Given the description of an element on the screen output the (x, y) to click on. 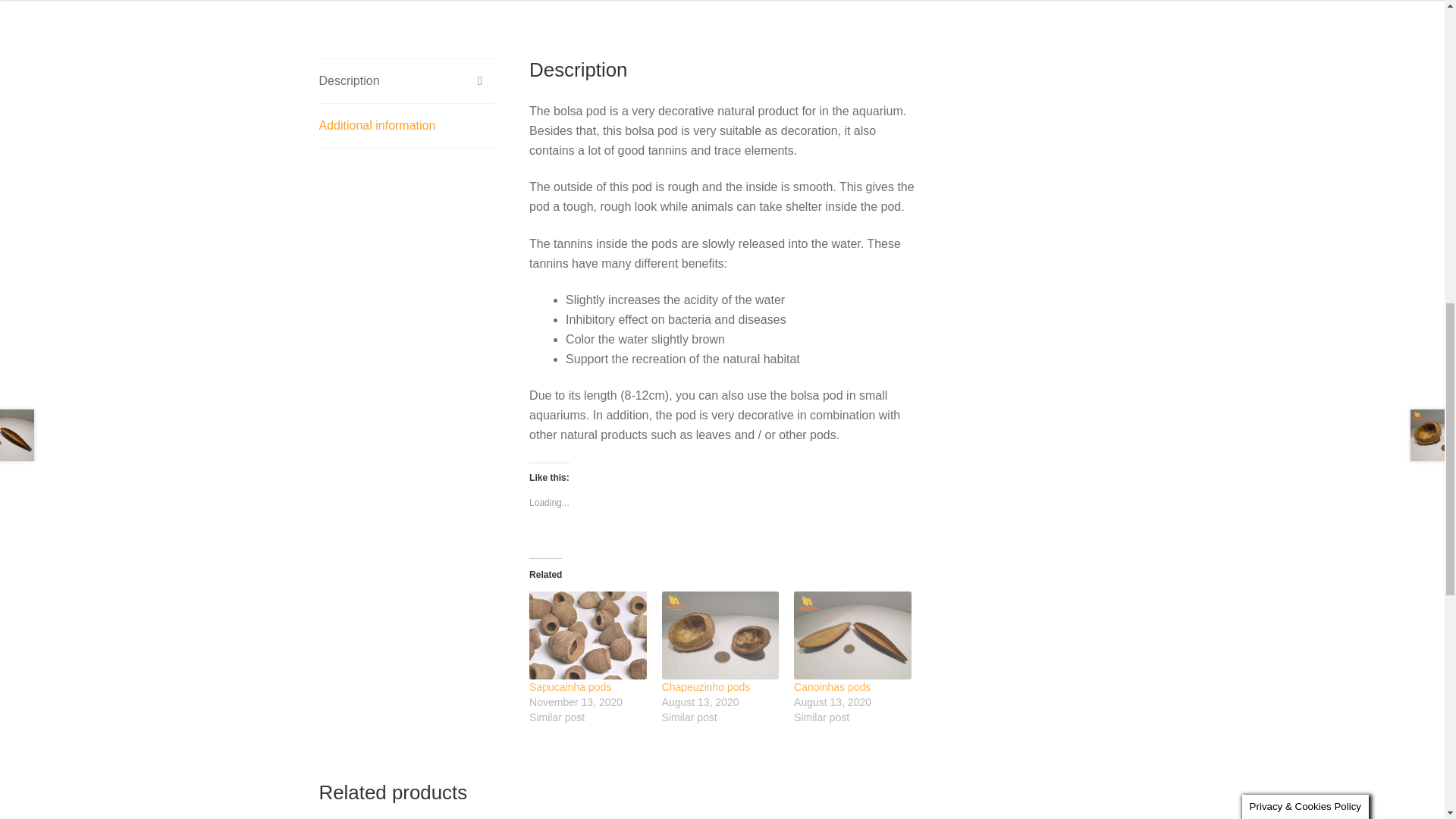
Chapeuzinho pods (706, 686)
Sapucainha pods (587, 635)
Chapeuzinho pods (720, 635)
Sapucainha pods (570, 686)
